Given the description of an element on the screen output the (x, y) to click on. 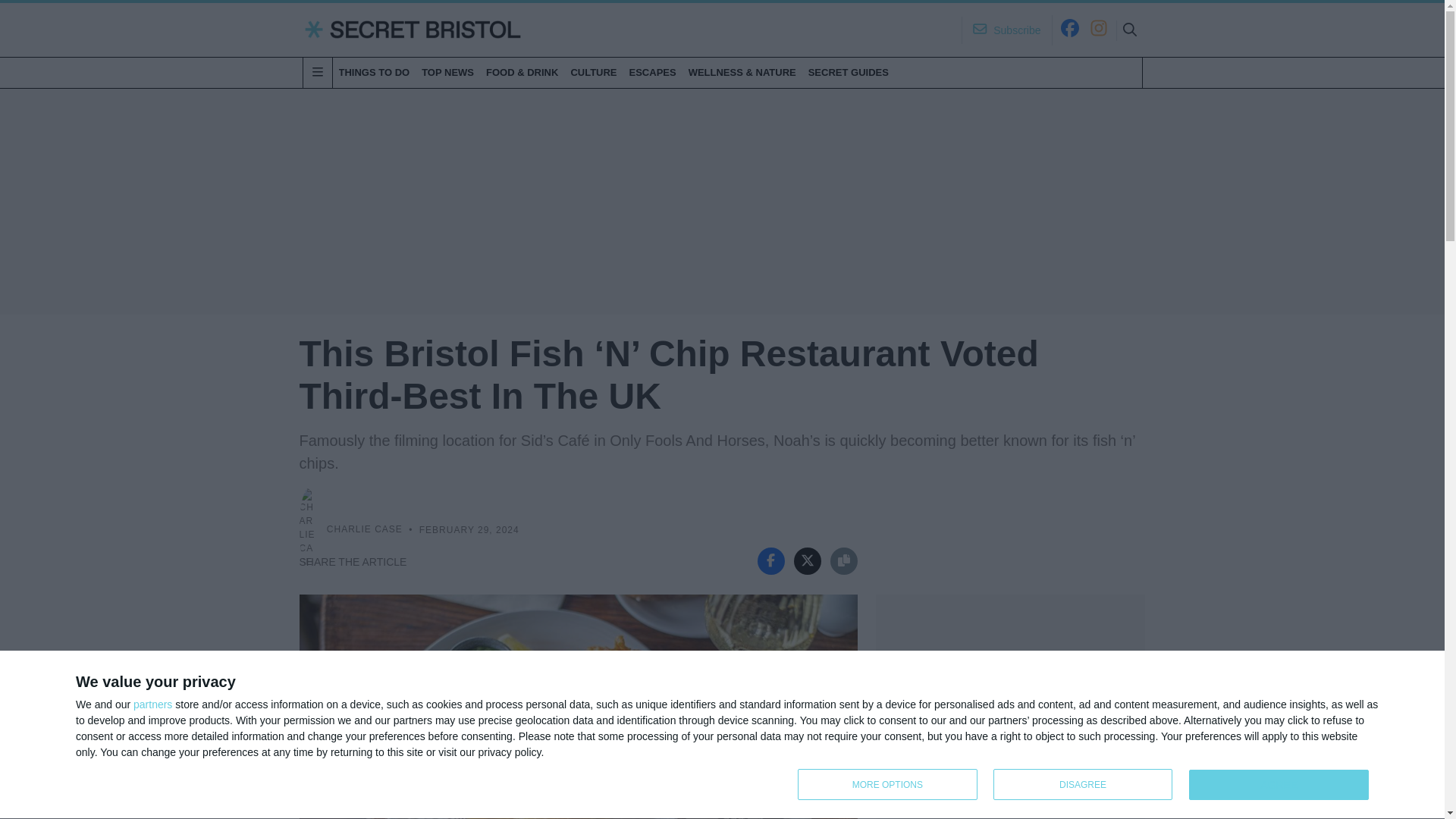
THINGS TO DO (373, 72)
CHARLIE CASE (364, 529)
TOP NEWS (448, 72)
CULTURE (592, 72)
ESCAPES (652, 72)
DISAGREE (1082, 784)
AGREE (1086, 785)
partners (1278, 784)
SECRET GUIDES (152, 704)
MORE OPTIONS (848, 72)
